Given the description of an element on the screen output the (x, y) to click on. 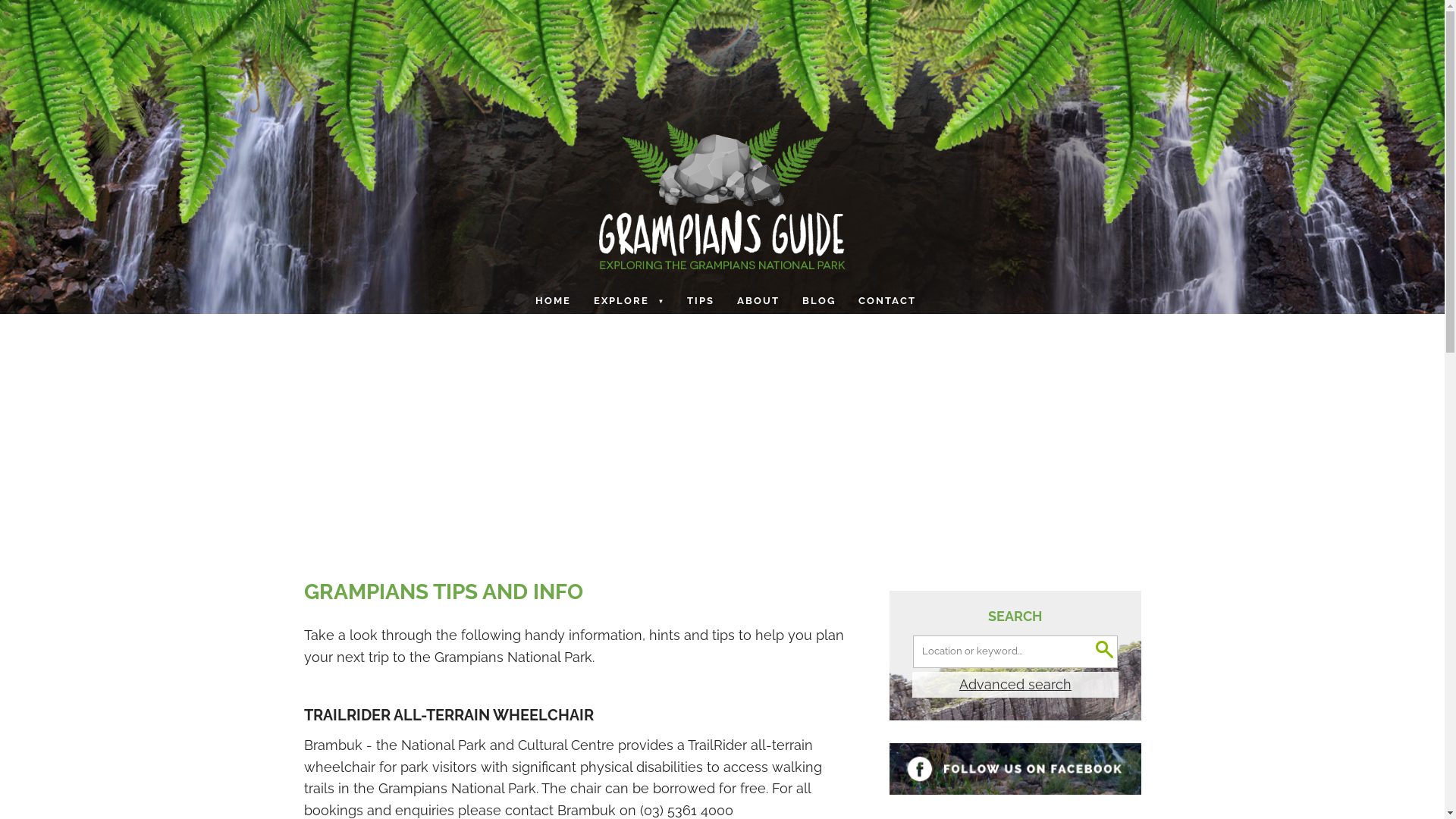
Advertisement Element type: hover (721, 427)
BLOG Element type: text (820, 300)
HOME Element type: text (554, 300)
TIPS Element type: text (702, 300)
EXPLORE Element type: text (630, 300)
ABOUT Element type: text (759, 300)
Advanced search Element type: text (1014, 684)
CONTACT Element type: text (883, 300)
